Given the description of an element on the screen output the (x, y) to click on. 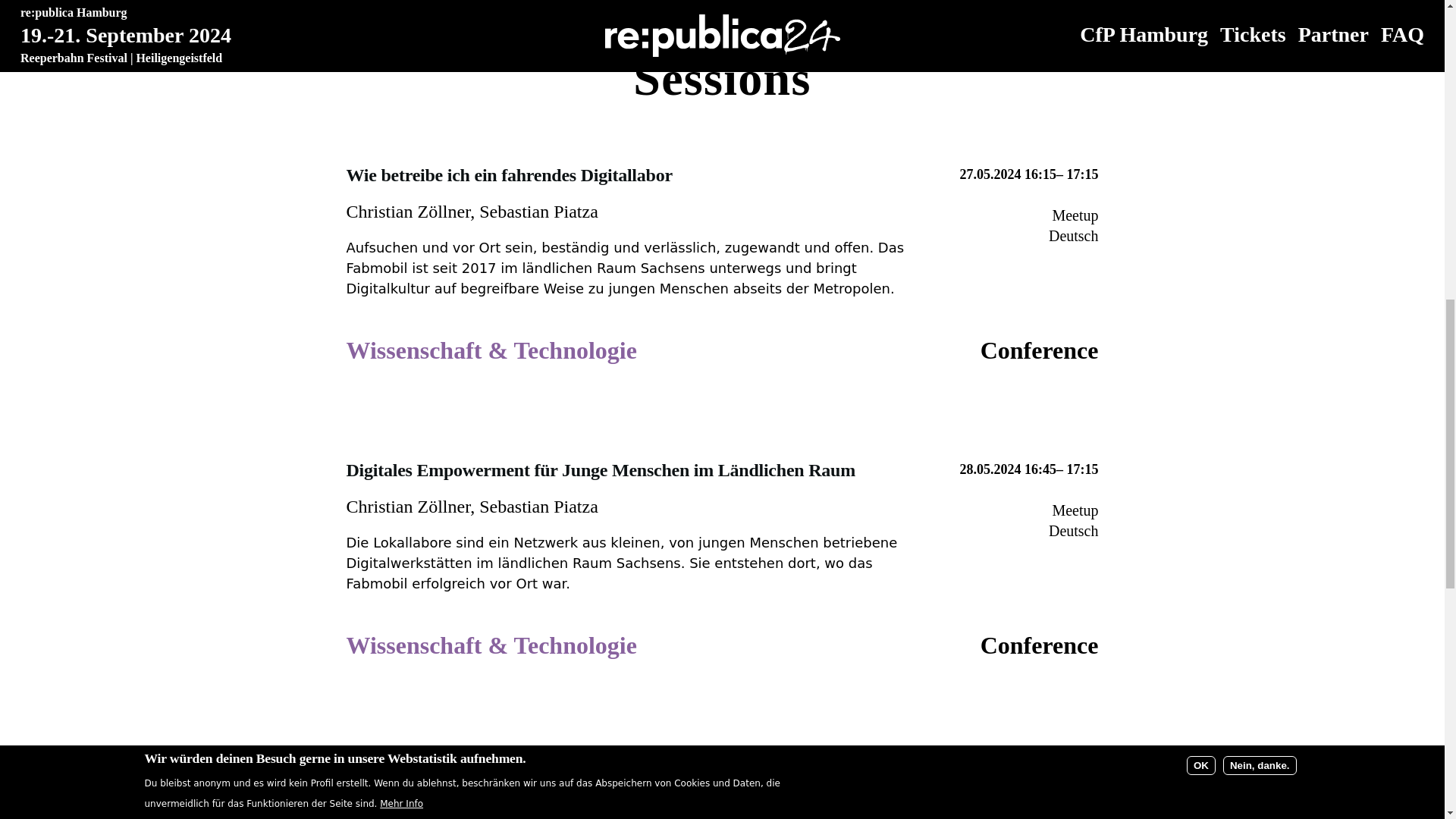
Wie betreibe ich ein fahrendes Digitallabor (508, 766)
Sebastian Piatza (538, 211)
Sebastian Piatza (538, 506)
Sebastian Piatza (538, 802)
Wie betreibe ich ein fahrendes Digitallabor (508, 176)
